Given the description of an element on the screen output the (x, y) to click on. 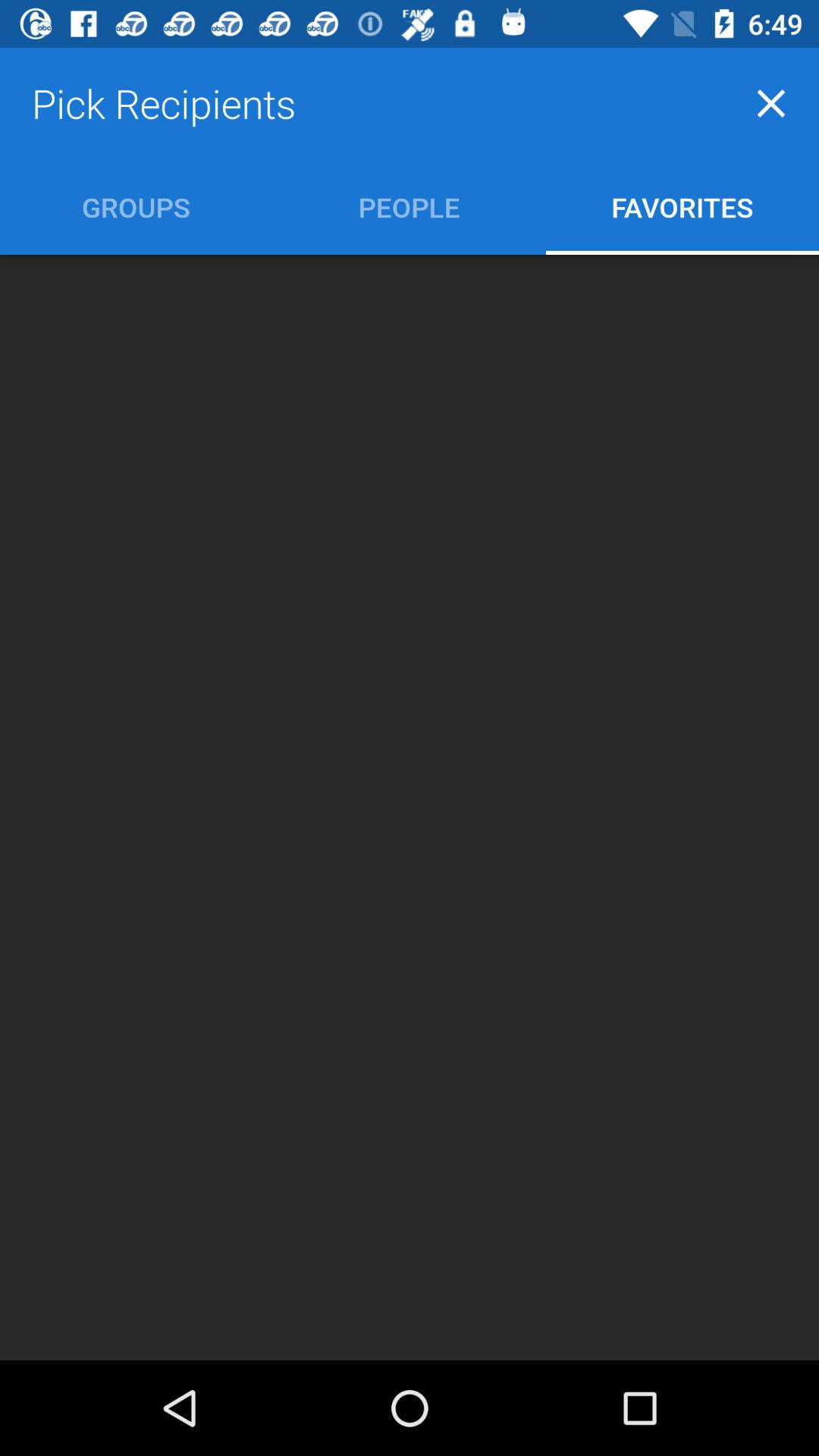
press item to the right of people icon (682, 206)
